Given the description of an element on the screen output the (x, y) to click on. 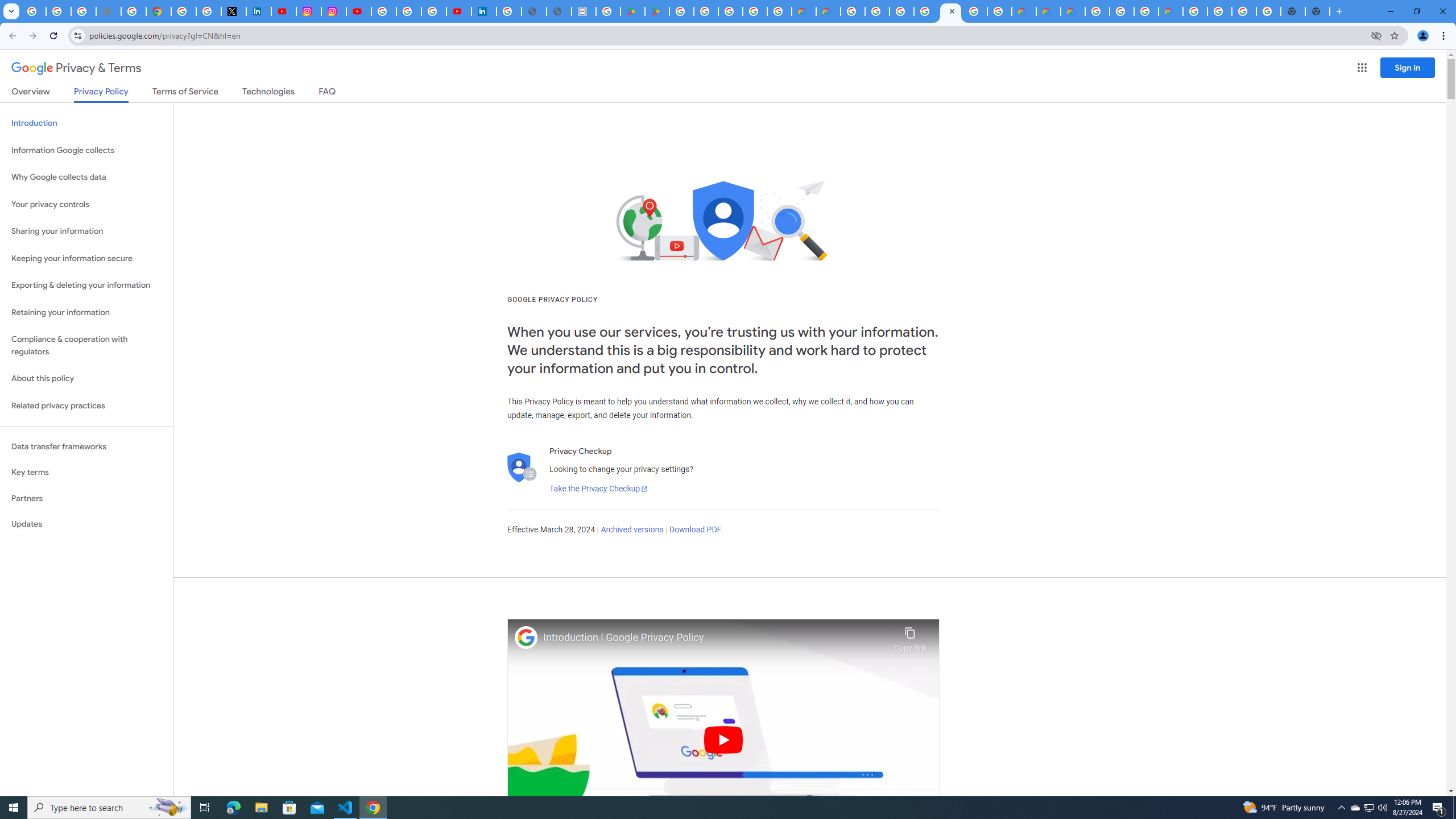
Technologies (268, 93)
Chrome (1445, 35)
YouTube Content Monetization Policies - How YouTube Works (283, 11)
Keeping your information secure (86, 258)
Google Workspace - Specific Terms (778, 11)
View site information (77, 35)
Retaining your information (86, 312)
Introduction | Google Privacy Policy (715, 637)
User Details (558, 11)
Back (10, 35)
